Given the description of an element on the screen output the (x, y) to click on. 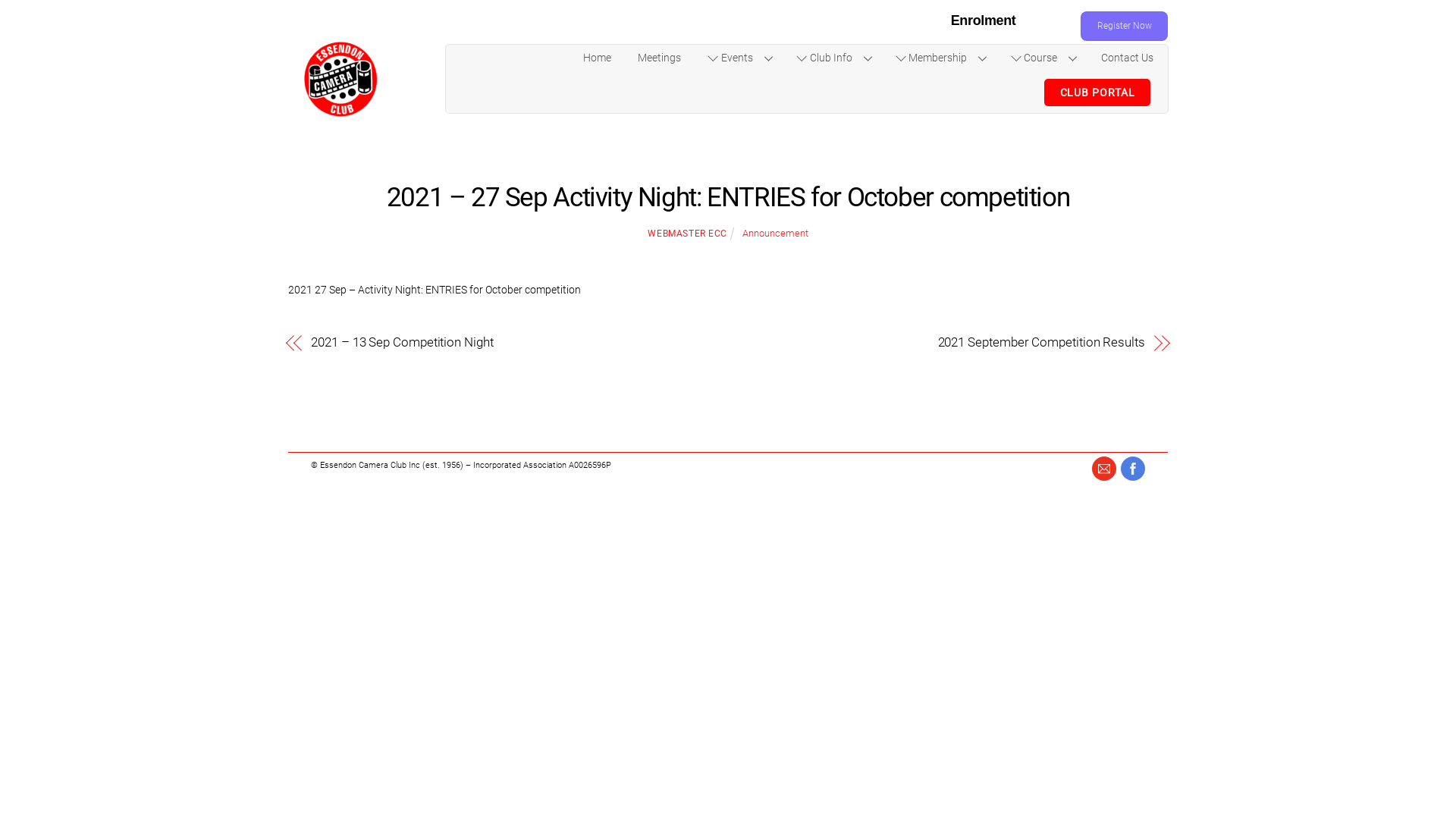
Membership Element type: text (939, 58)
Course Element type: text (1042, 58)
Register Now Element type: text (1123, 25)
CLUB PORTAL Element type: text (1097, 92)
Home Element type: text (596, 58)
Meetings Element type: text (659, 58)
Events Element type: text (737, 58)
Announcement Element type: text (775, 232)
Contact Us Element type: text (1127, 58)
CLUB PORTAL Element type: text (1097, 92)
2021 September Competition Results Element type: text (949, 342)
Club Info Element type: text (831, 58)
WEBMASTER ECC Element type: text (687, 233)
ecc-logo Element type: hover (341, 78)
